Given the description of an element on the screen output the (x, y) to click on. 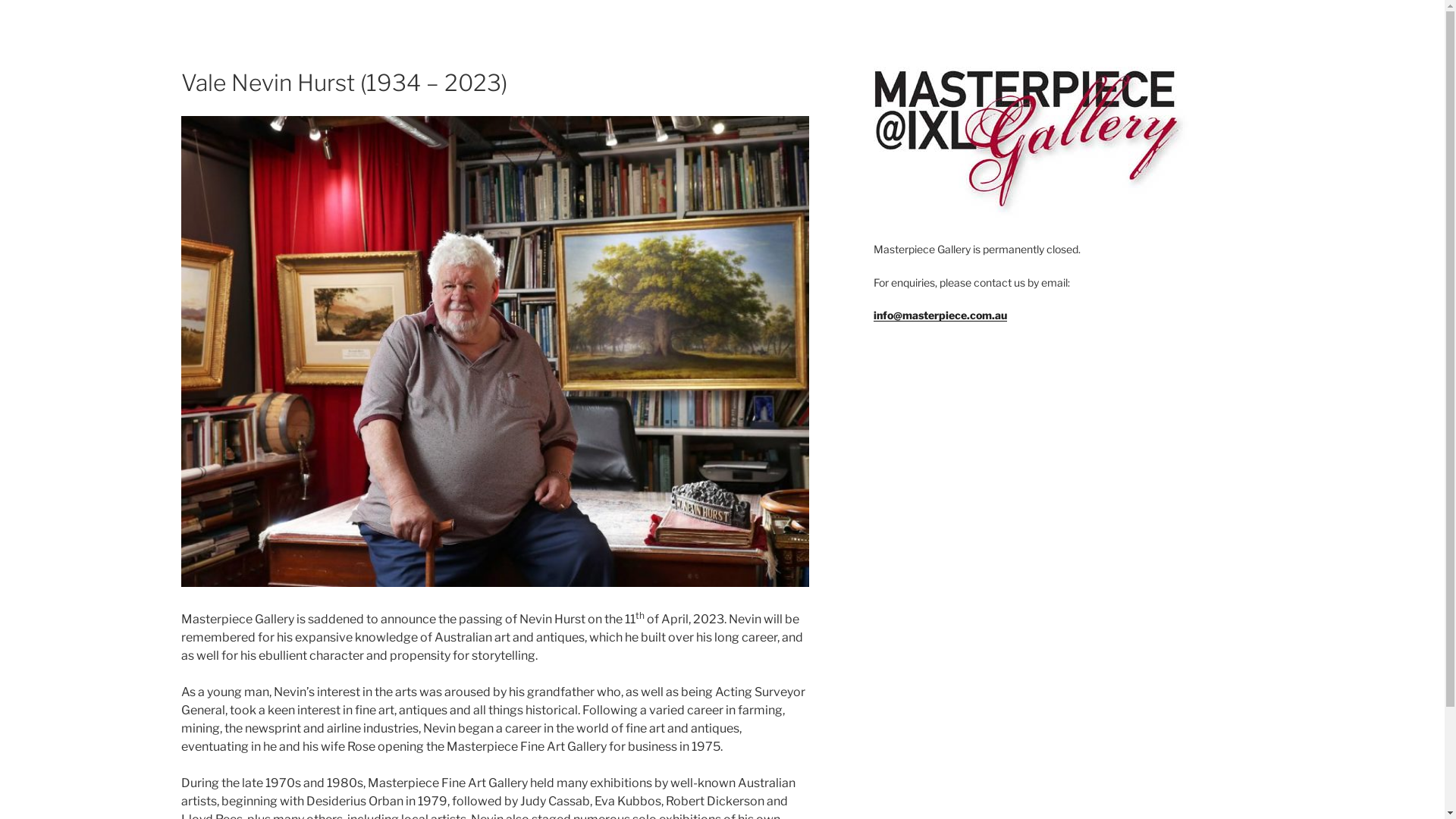
info@masterpiece.com.au Element type: text (940, 314)
